Given the description of an element on the screen output the (x, y) to click on. 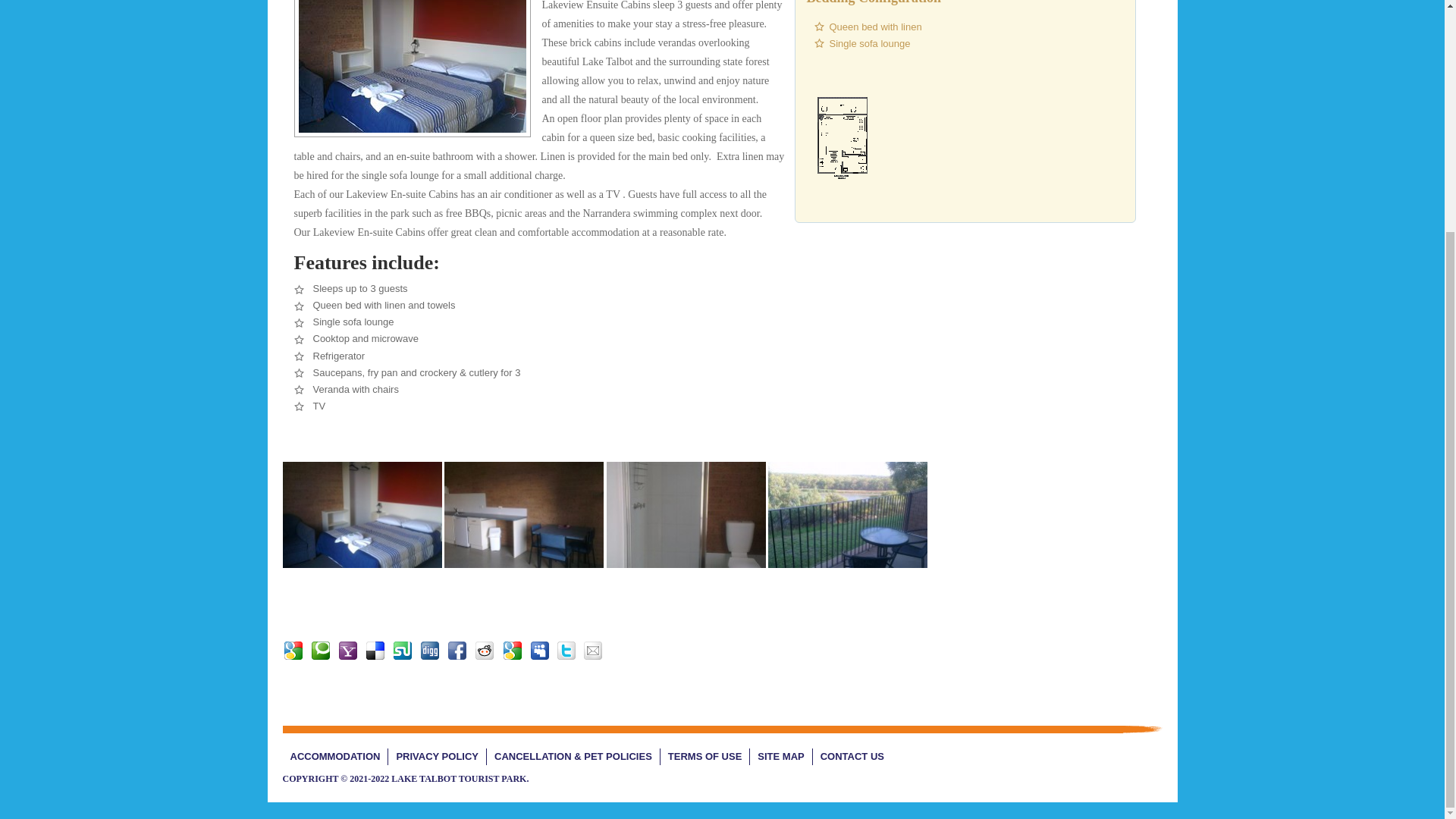
PRIVACY POLICY (437, 756)
ACCOMMODATION (335, 756)
Twitter Tweet Button (305, 595)
